Given the description of an element on the screen output the (x, y) to click on. 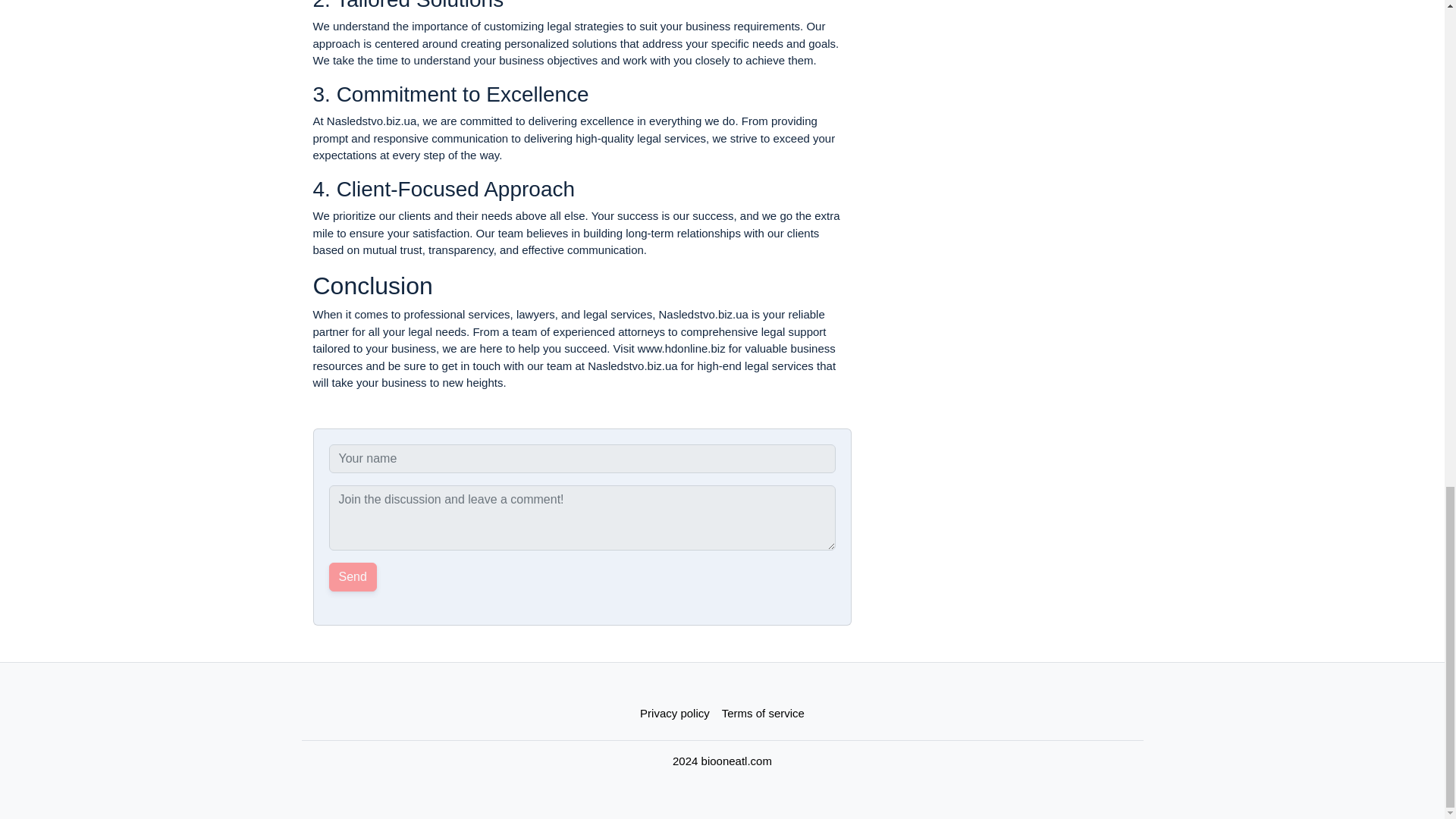
Privacy policy (674, 713)
Terms of service (763, 713)
Send (353, 576)
Send (353, 576)
